Given the description of an element on the screen output the (x, y) to click on. 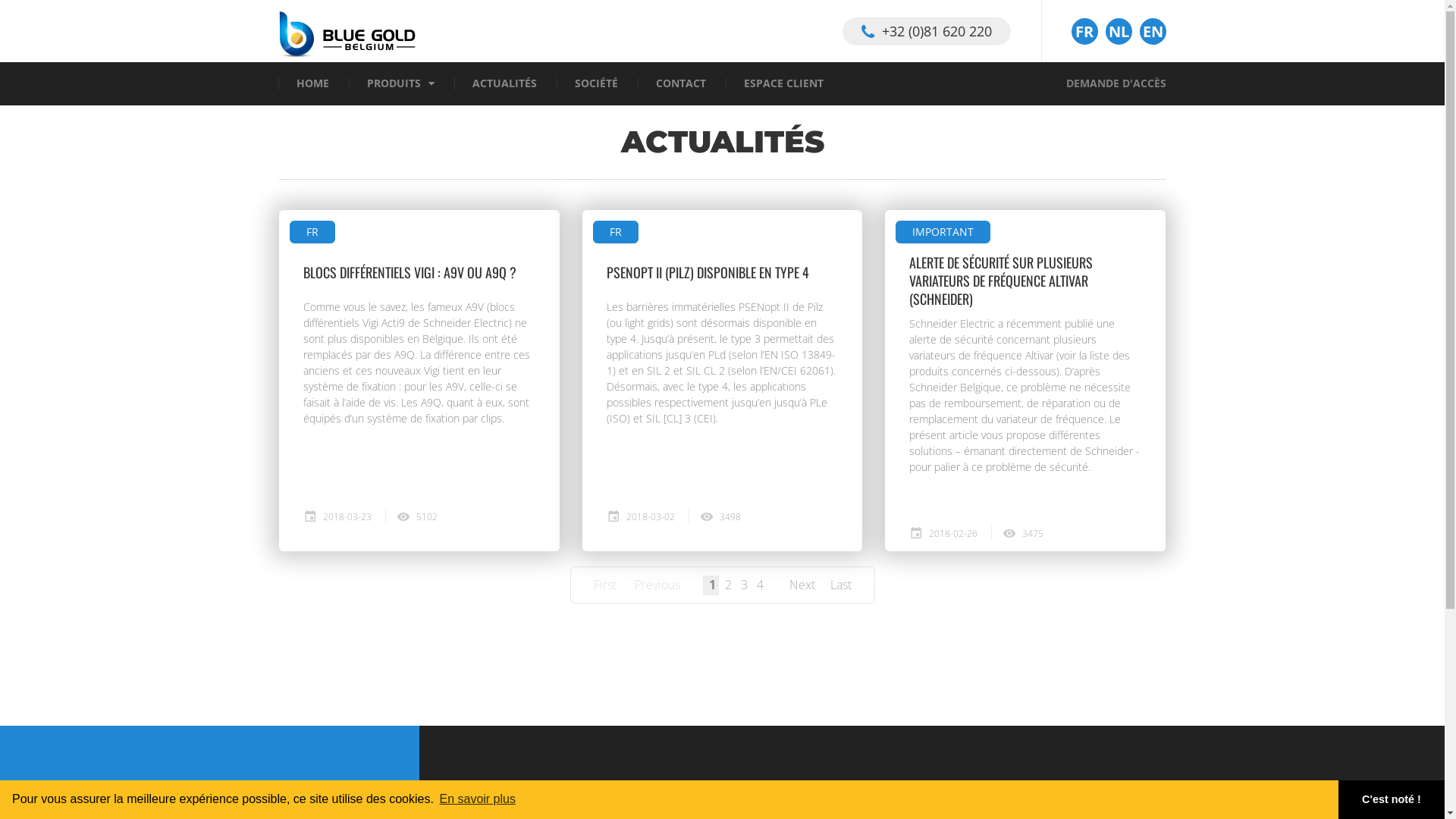
HOME Element type: text (298, 808)
IMPORTANT Element type: text (942, 231)
2 Element type: text (728, 585)
FR Element type: text (1083, 31)
FR Element type: text (615, 231)
4 Element type: text (760, 585)
PRODUITS Element type: text (393, 83)
CONTACT Element type: text (680, 83)
Last Element type: text (839, 584)
+32 (0)81 620 220 Element type: text (925, 30)
ESPACE CLIENT Element type: text (782, 83)
PSENOPT II (PILZ) DISPONIBLE EN TYPE 4 Element type: text (707, 272)
En savoir plus Element type: text (476, 798)
FR Element type: text (312, 231)
EN Element type: text (1152, 31)
3 Element type: text (743, 585)
1 Element type: text (711, 585)
Next Element type: text (801, 584)
NL Element type: text (1118, 31)
HOME Element type: text (311, 83)
